Given the description of an element on the screen output the (x, y) to click on. 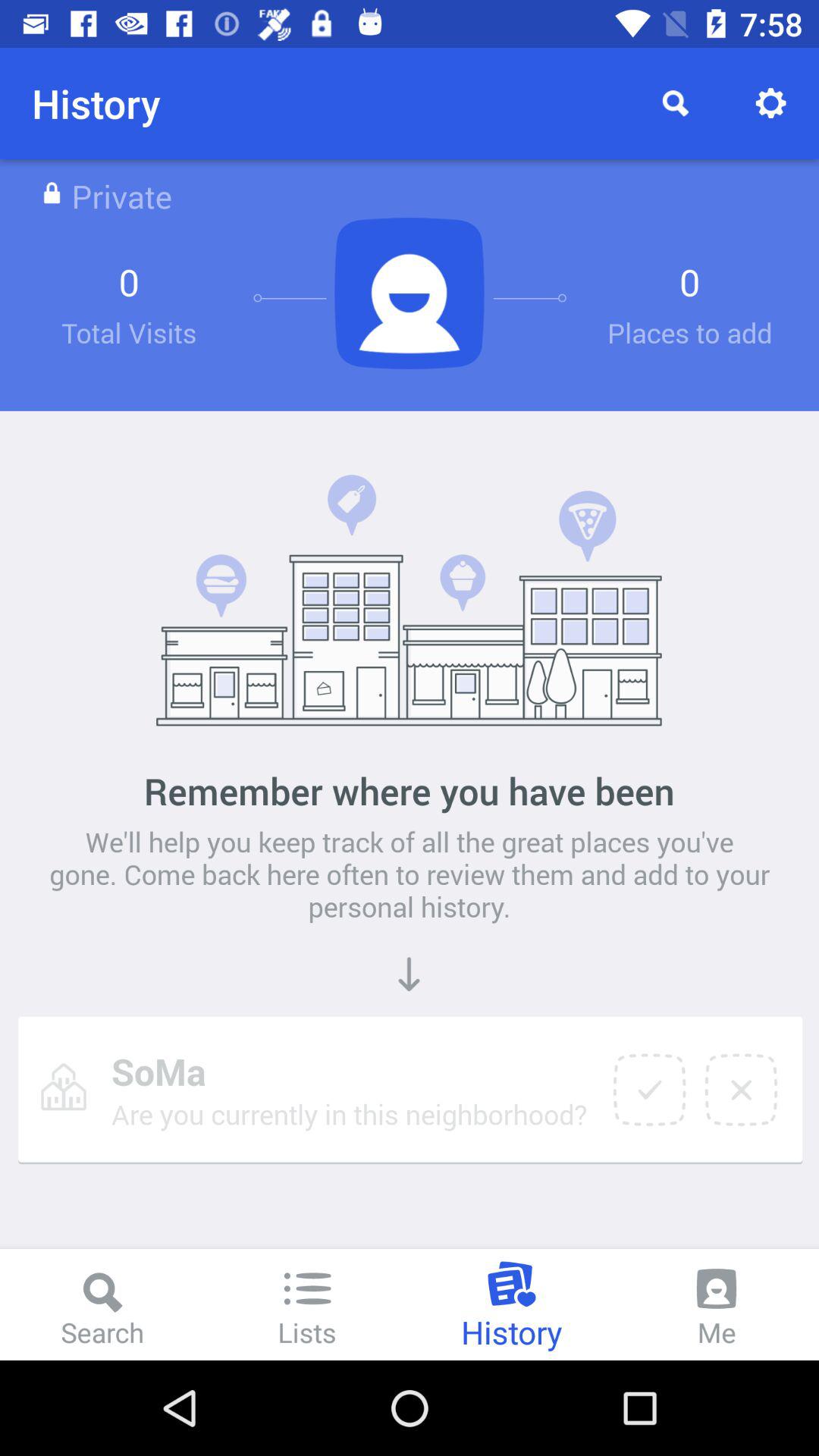
turn on the icon to the right of the are you currently (649, 1089)
